Given the description of an element on the screen output the (x, y) to click on. 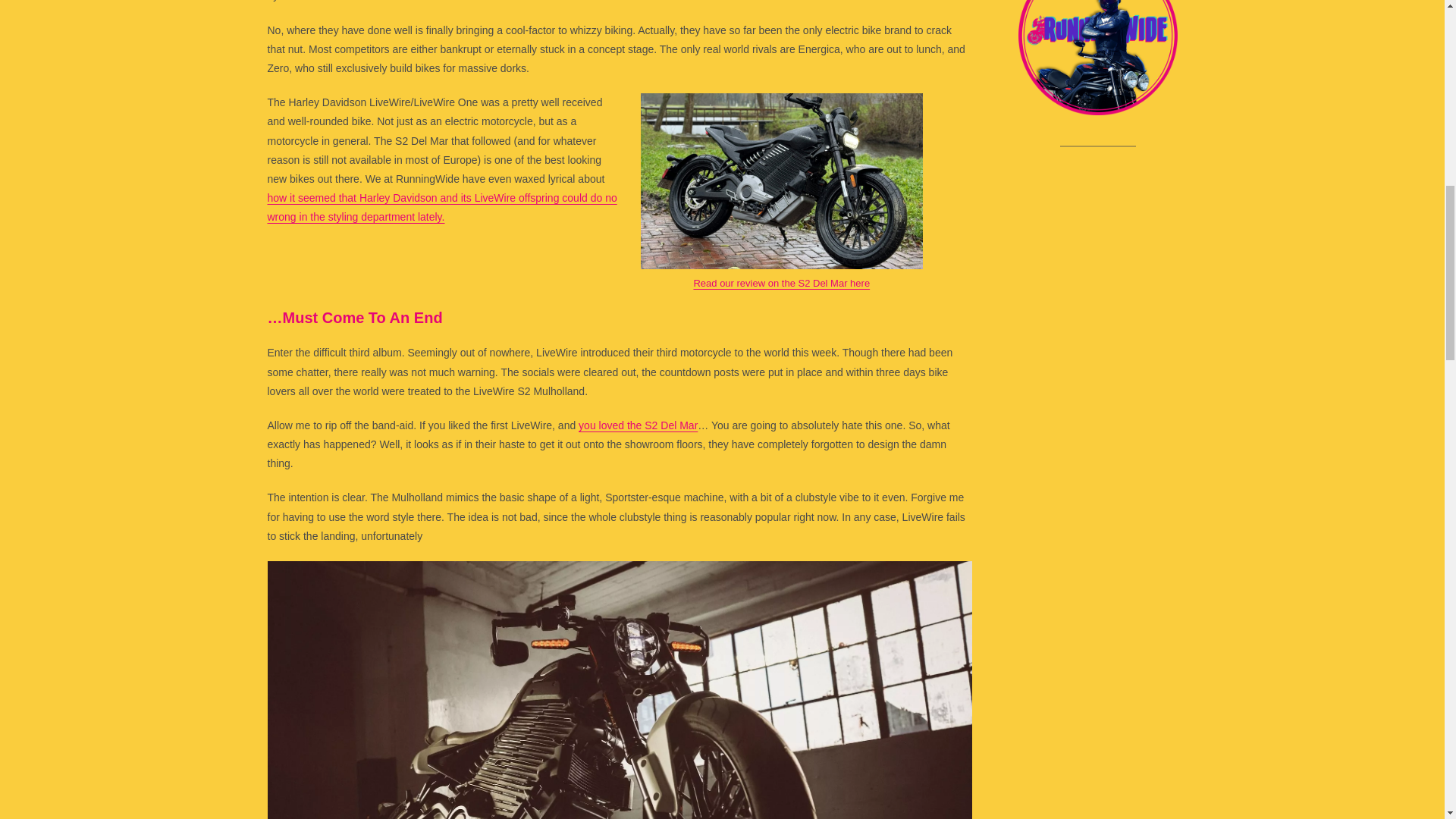
you loved the S2 Del Mar (637, 425)
Read our review on the S2 Del Mar here (781, 283)
